Given the description of an element on the screen output the (x, y) to click on. 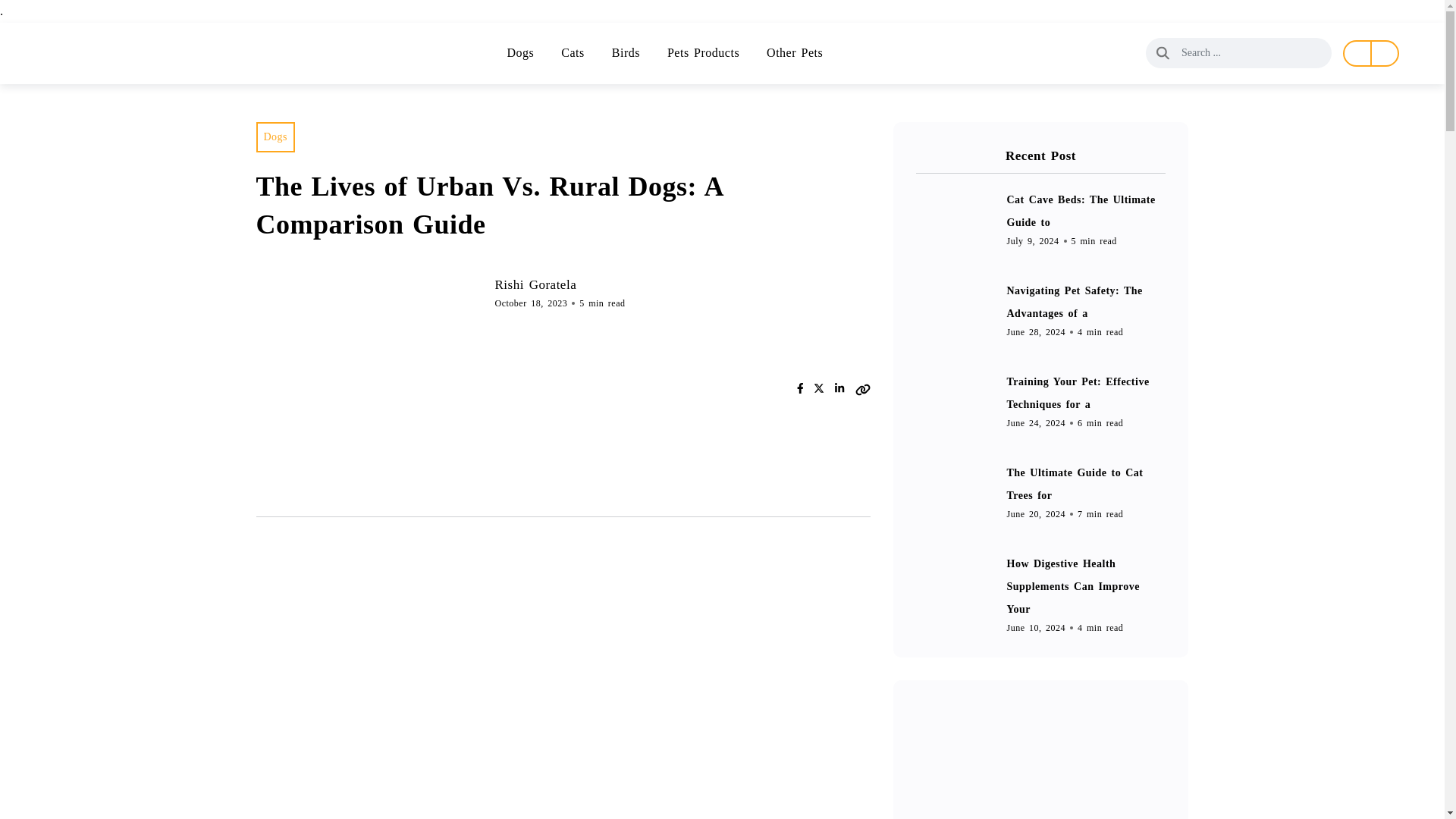
Cats (571, 52)
Dogs (520, 52)
. (2, 11)
Birds (625, 52)
Other Pets (794, 52)
Pets Nurturing (101, 52)
Pets Products (702, 52)
Copy Link (863, 388)
